Given the description of an element on the screen output the (x, y) to click on. 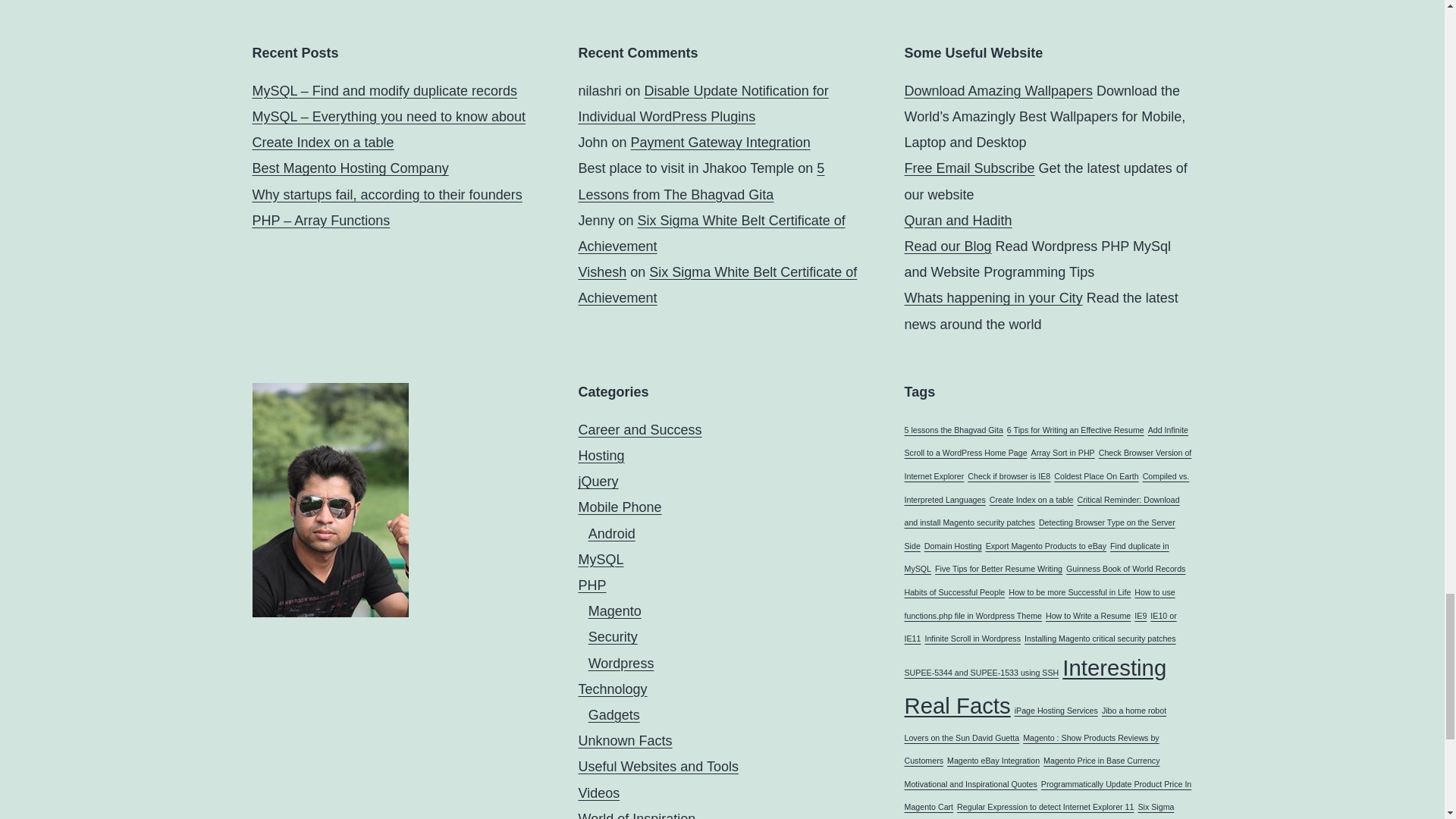
Best Magento Hosting Company (349, 168)
Get the latest updates of our website (968, 168)
Disable Update Notification for Individual WordPress Plugins (703, 103)
Read Wordpress PHP MySql and Website Programming Tips (947, 246)
Read the latest news around the world  (992, 297)
Why startups fail, according to their founders (386, 194)
